Given the description of an element on the screen output the (x, y) to click on. 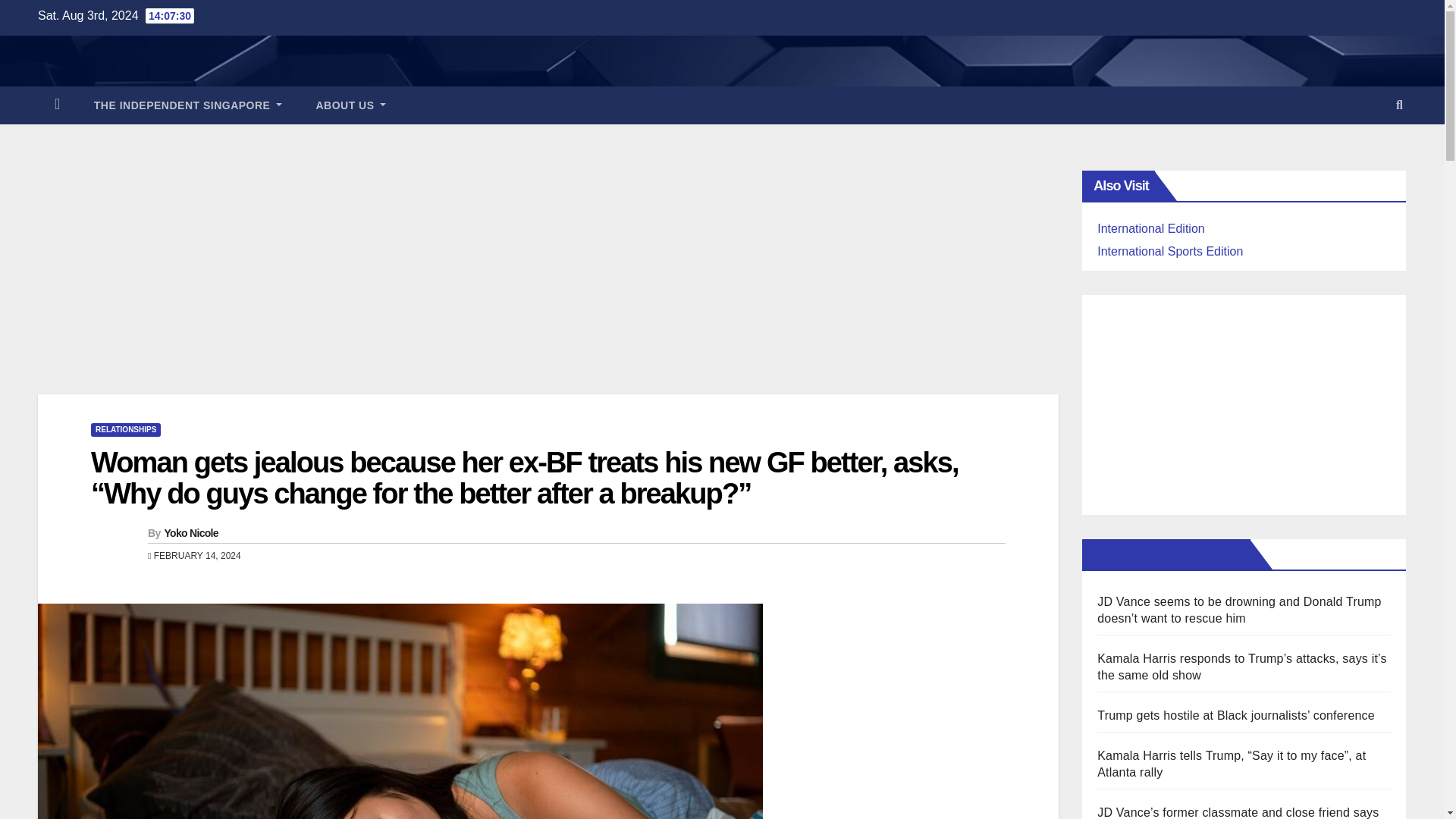
THE INDEPENDENT SINGAPORE (188, 105)
Yoko Nicole (189, 532)
Home (57, 105)
ABOUT US (350, 105)
RELATIONSHIPS (125, 429)
The Independent Singapore (188, 105)
